Given the description of an element on the screen output the (x, y) to click on. 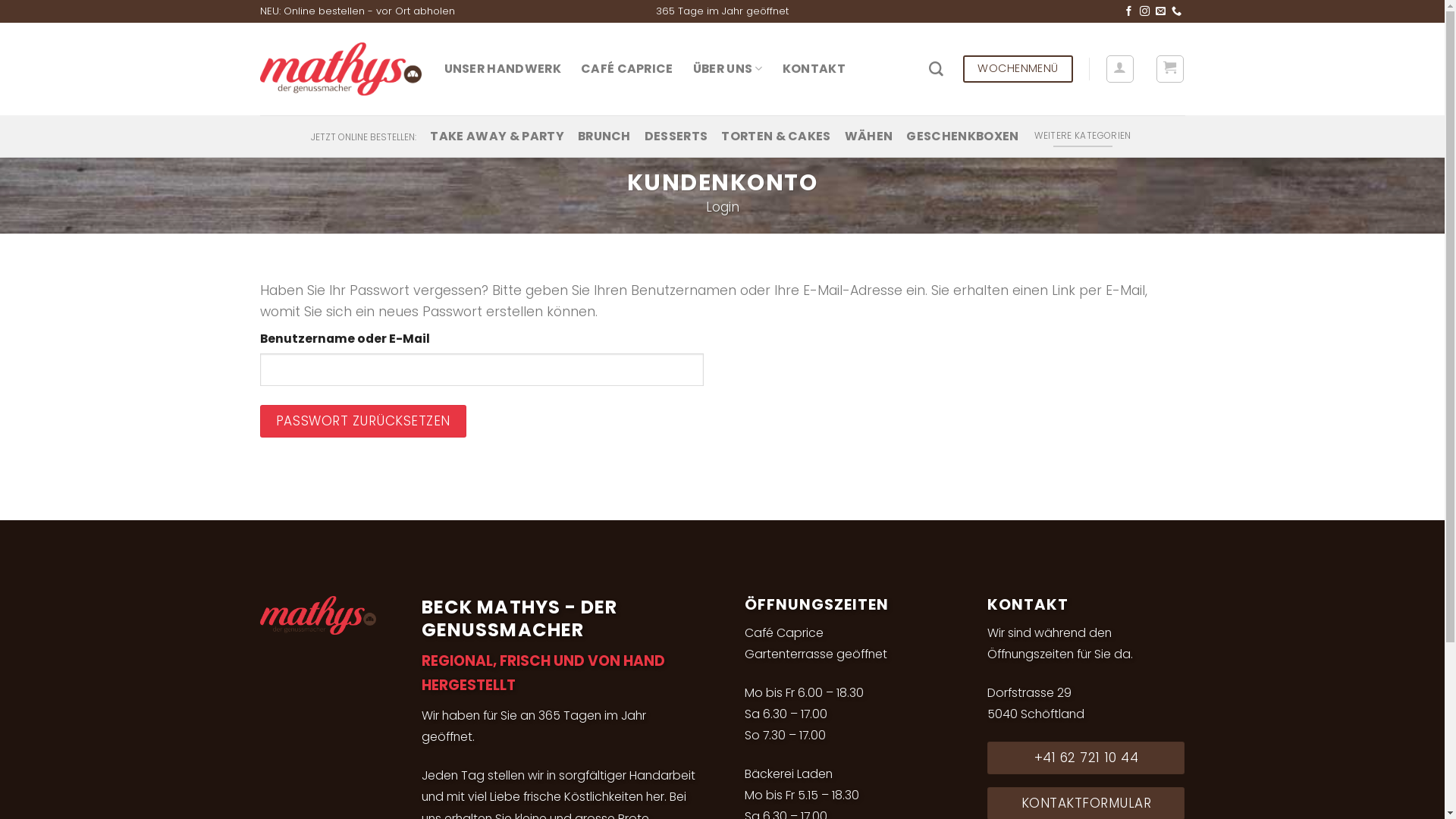
DESSERTS Element type: text (676, 135)
GESCHENKBOXEN Element type: text (962, 135)
UNSER HANDWERK Element type: text (502, 68)
+41 62 721 10 44 Element type: text (1085, 757)
WEITERE KATEGORIEN Element type: text (1082, 135)
Follow on Facebook Element type: hover (1128, 11)
Send us an email Element type: hover (1160, 11)
KONTAKT Element type: text (813, 68)
Warenkorb Element type: hover (1169, 68)
Call us Element type: hover (1176, 11)
TAKE AWAY & PARTY Element type: text (496, 135)
Follow on Instagram Element type: hover (1144, 11)
BRUNCH Element type: text (603, 135)
TORTEN & CAKES Element type: text (775, 135)
